Given the description of an element on the screen output the (x, y) to click on. 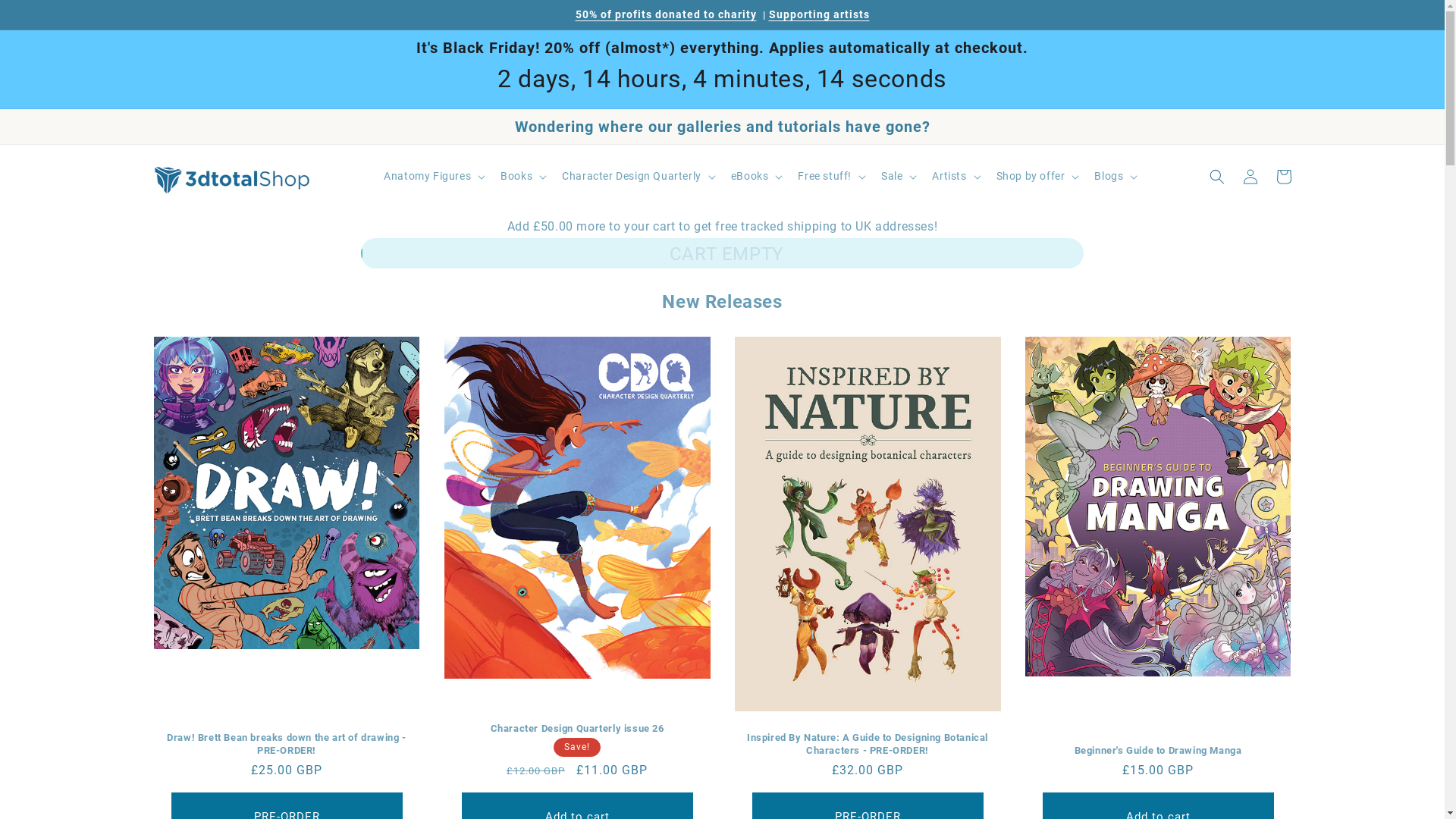
50% of profits donated to charity Element type: text (665, 14)
Beginner's Guide to Drawing Manga Element type: text (1157, 750)
Wondering where our galleries and tutorials have gone? Element type: text (722, 126)
Log in Element type: text (1249, 176)
Character Design Quarterly issue 26 Element type: text (576, 728)
Cart Element type: text (1282, 176)
Supporting artists Element type: text (818, 14)
Draw! Brett Bean breaks down the art of drawing - PRE-ORDER! Element type: text (285, 744)
